Given the description of an element on the screen output the (x, y) to click on. 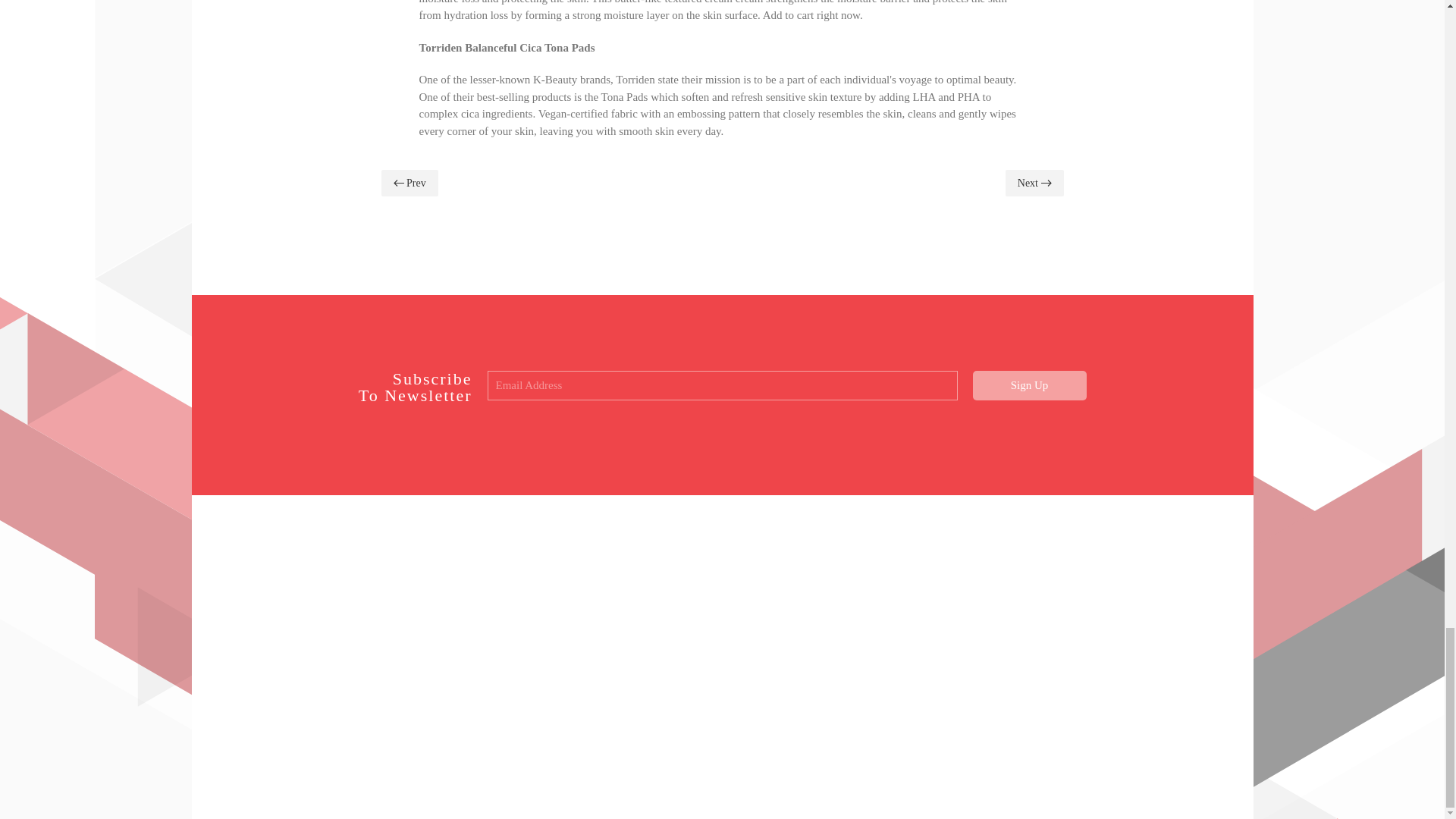
Next (1035, 182)
Prev (409, 182)
Sign Up (1029, 385)
